Given the description of an element on the screen output the (x, y) to click on. 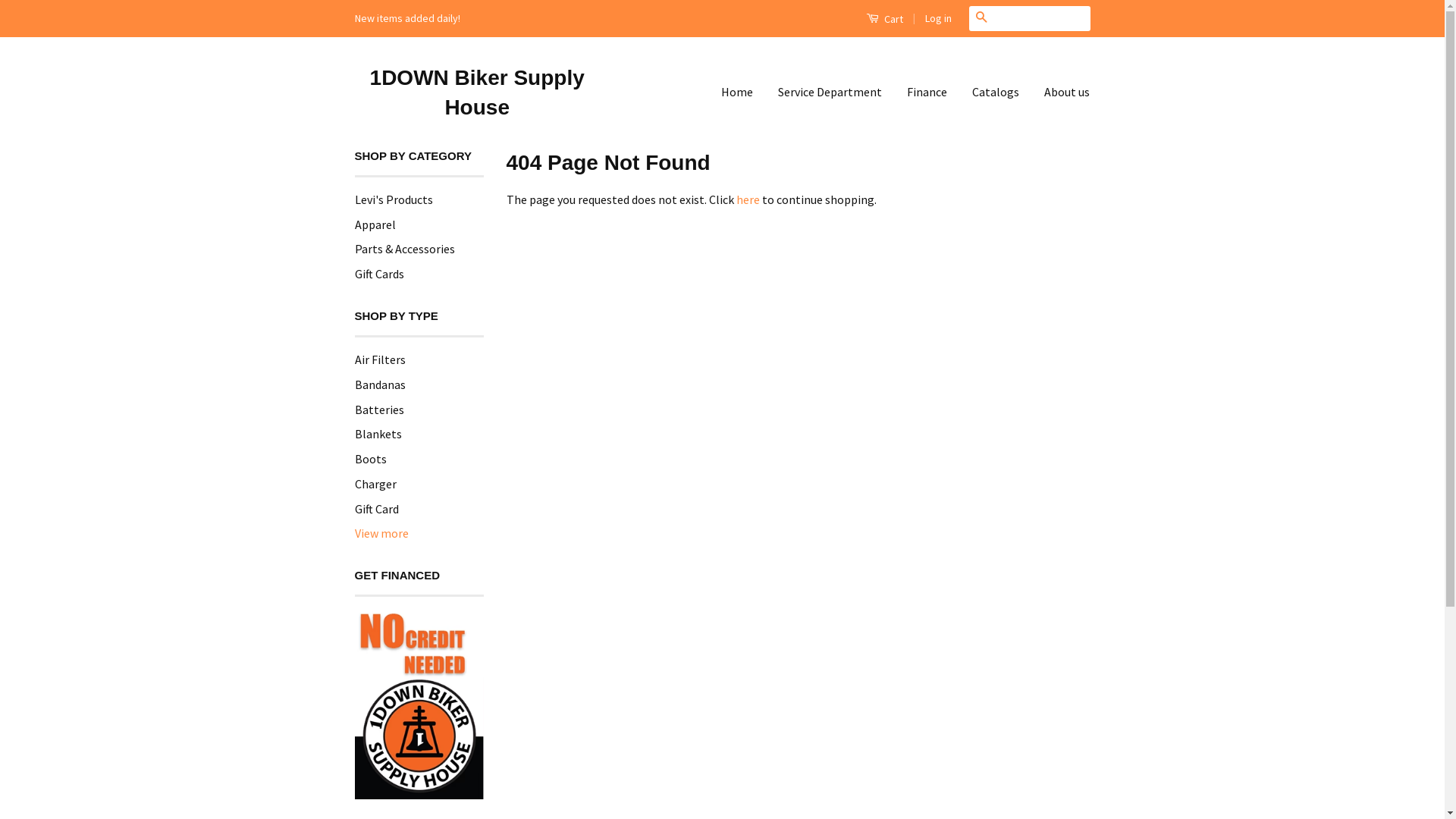
About us Element type: text (1060, 91)
here Element type: text (747, 199)
Catalogs Element type: text (995, 91)
Charger Element type: text (375, 483)
Home Element type: text (742, 91)
Service Department Element type: text (829, 91)
Bandanas Element type: text (379, 384)
Log in Element type: text (938, 18)
Boots Element type: text (370, 458)
1DOWN Biker Supply House Element type: text (476, 92)
Gift Card Element type: text (376, 508)
Apparel Element type: text (374, 224)
Finance Element type: text (926, 91)
Gift Cards Element type: text (379, 273)
Batteries Element type: text (379, 409)
Blankets Element type: text (377, 433)
View more Element type: text (381, 533)
Air Filters Element type: text (379, 359)
Cart Element type: text (884, 17)
Search Element type: text (981, 18)
Parts & Accessories Element type: text (404, 248)
Levi's Products Element type: text (393, 199)
